Given the description of an element on the screen output the (x, y) to click on. 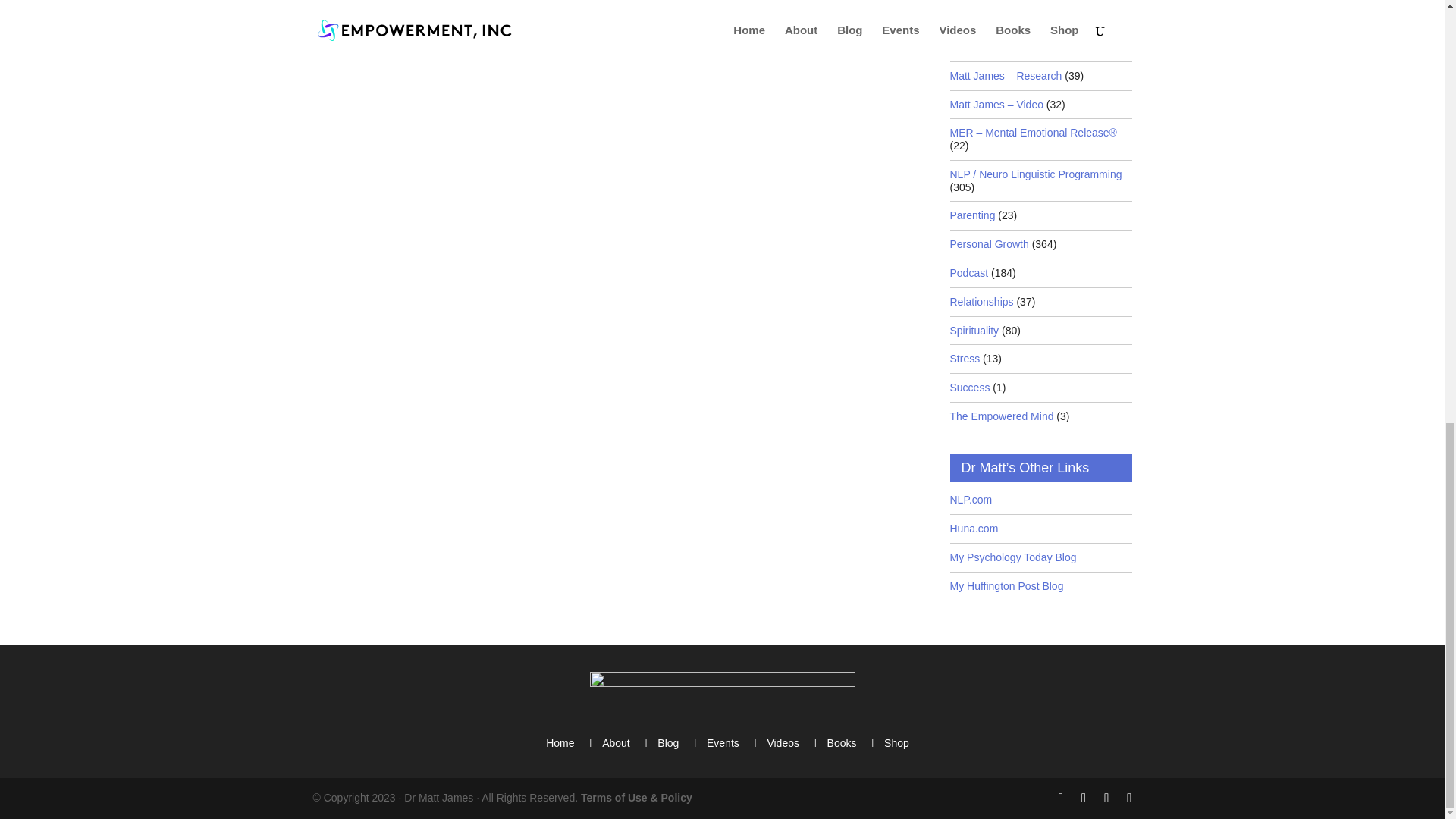
Integrative Health (990, 18)
Matt James (976, 47)
